Given the description of an element on the screen output the (x, y) to click on. 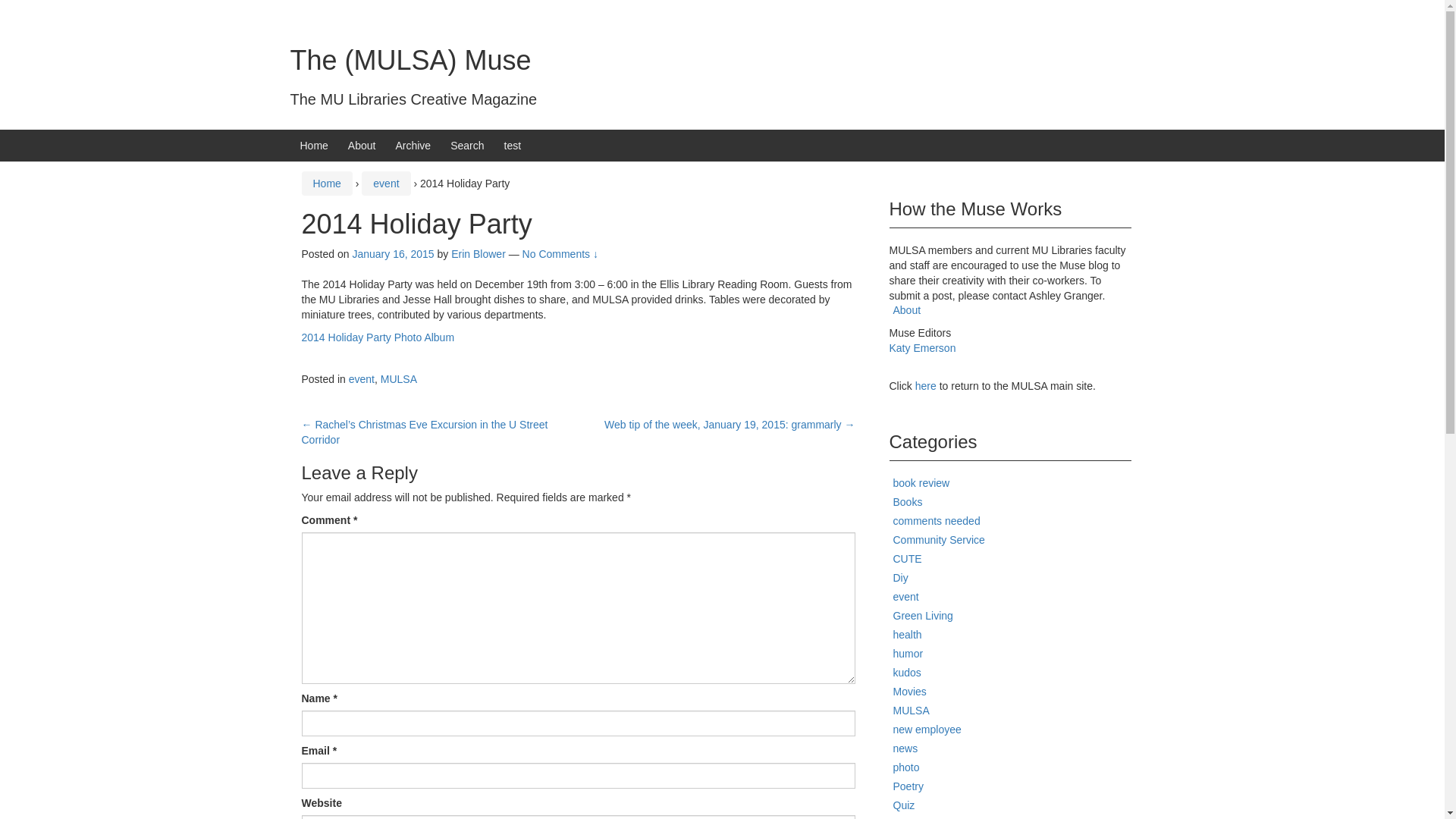
test (512, 145)
new employee (926, 729)
Archive (412, 145)
book review (921, 482)
photo (906, 767)
Green Living (923, 615)
event (385, 183)
here (927, 386)
event (905, 596)
MULSA (398, 378)
